Given the description of an element on the screen output the (x, y) to click on. 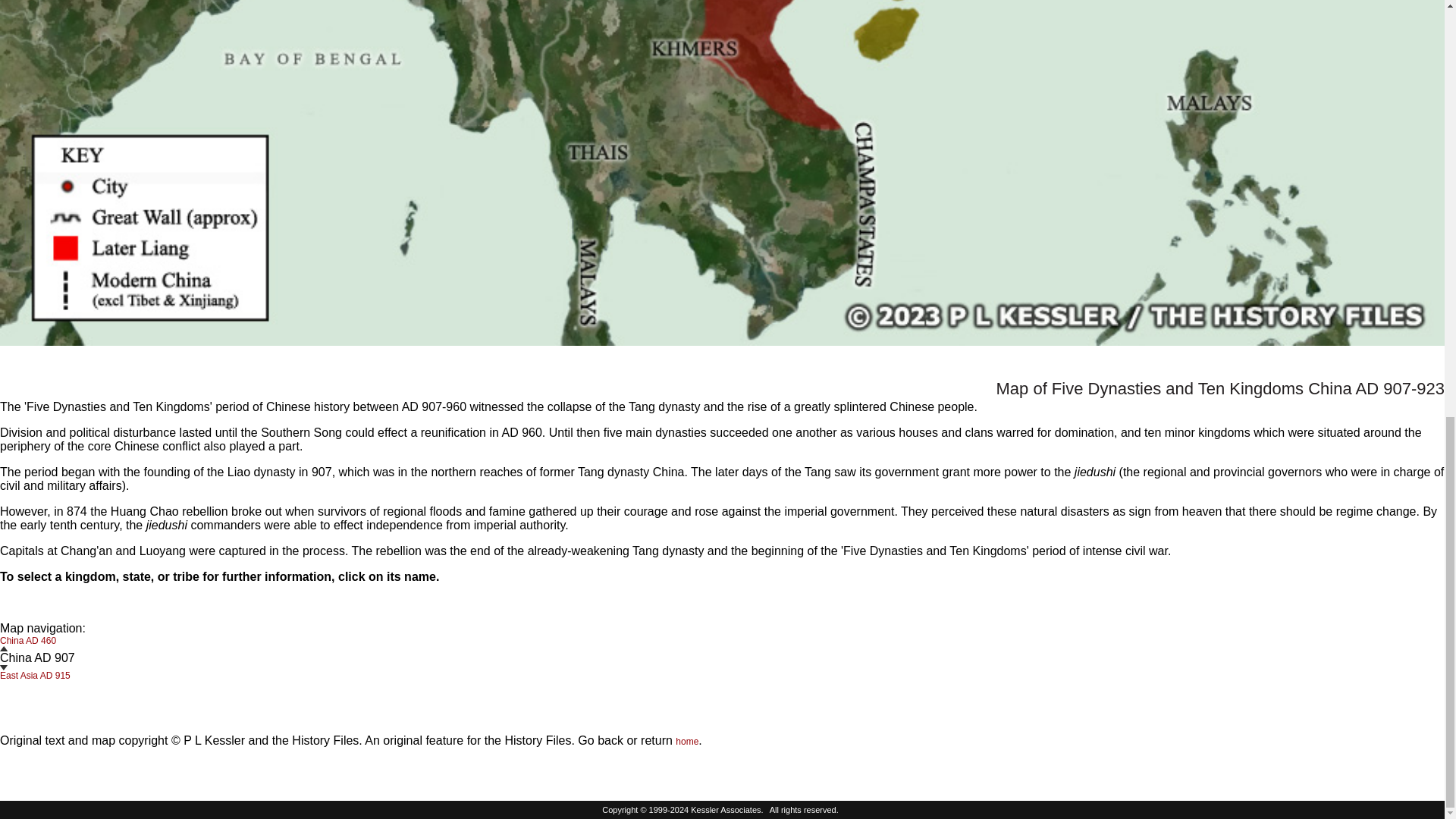
home (686, 741)
Skip backwards (3, 648)
back (609, 739)
China AD 460 (28, 644)
East Asia AD 915 (34, 670)
Skip forwards (3, 667)
Kessler Associates. (728, 809)
